Given the description of an element on the screen output the (x, y) to click on. 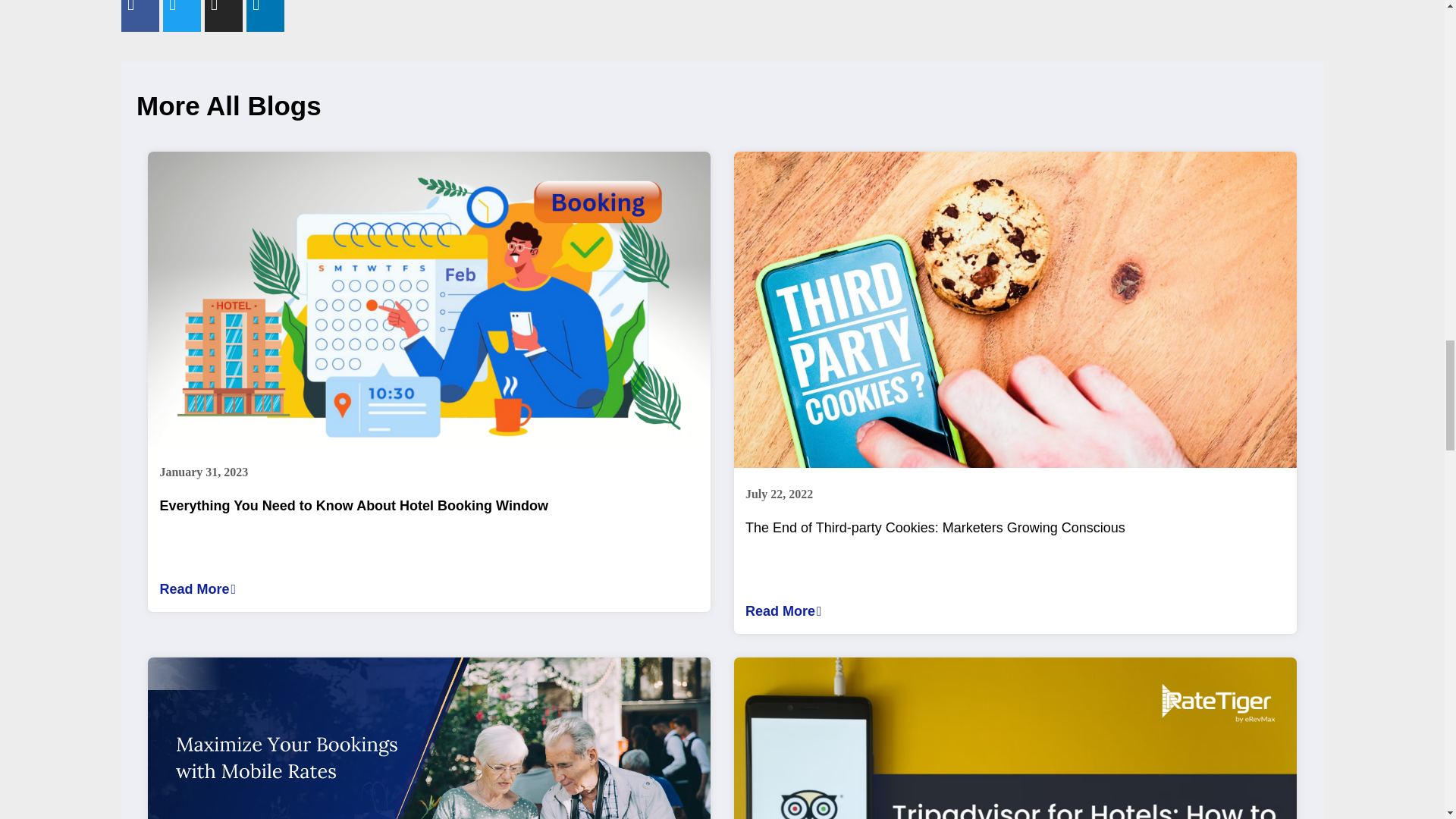
Everything You Need to Know About Hotel Booking Window (428, 531)
Everything You Need to Know About Hotel Booking Window (428, 589)
